Given the description of an element on the screen output the (x, y) to click on. 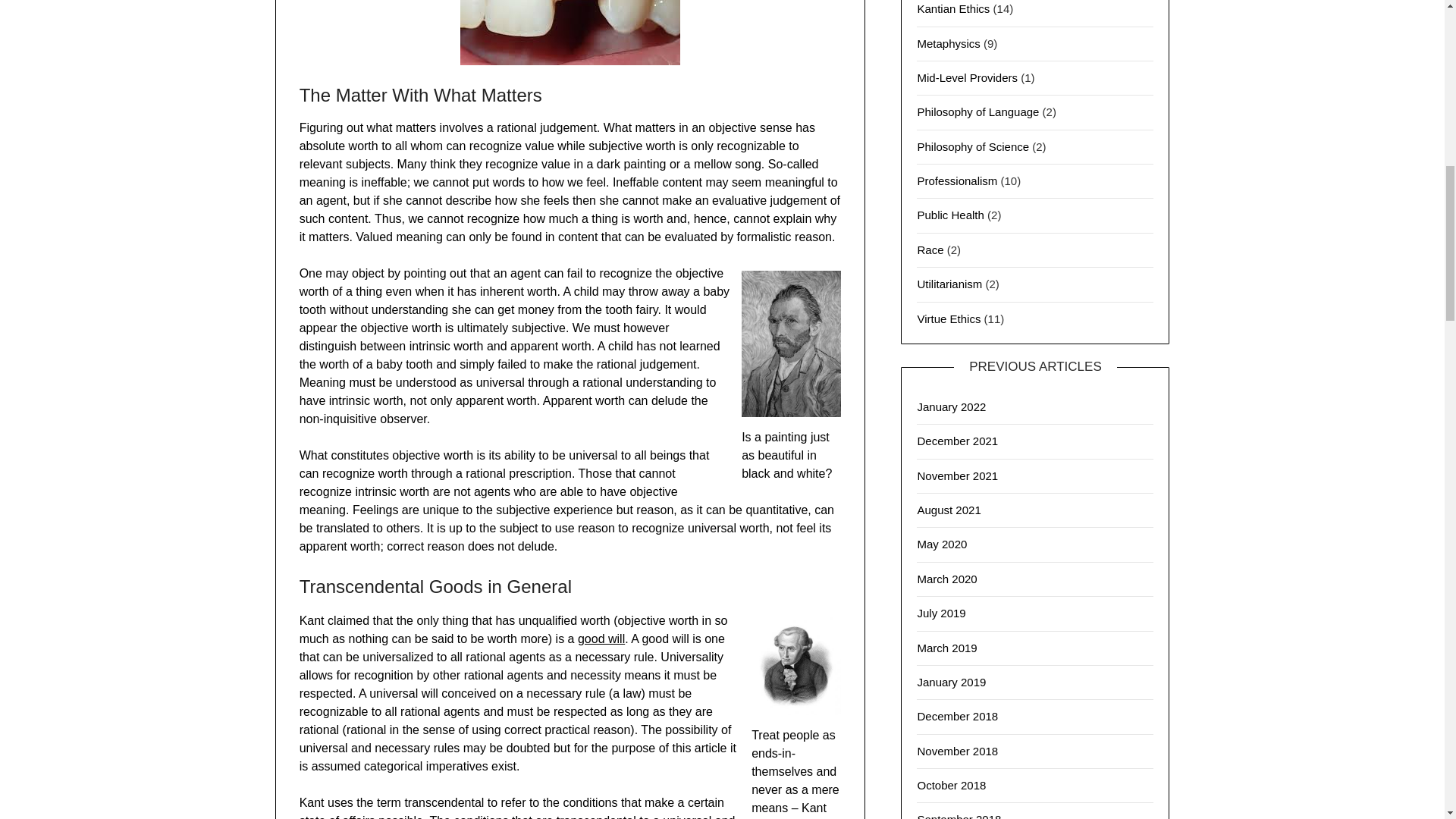
good will (601, 638)
Kantian Ethics (953, 8)
Metaphysics (948, 42)
